Given the description of an element on the screen output the (x, y) to click on. 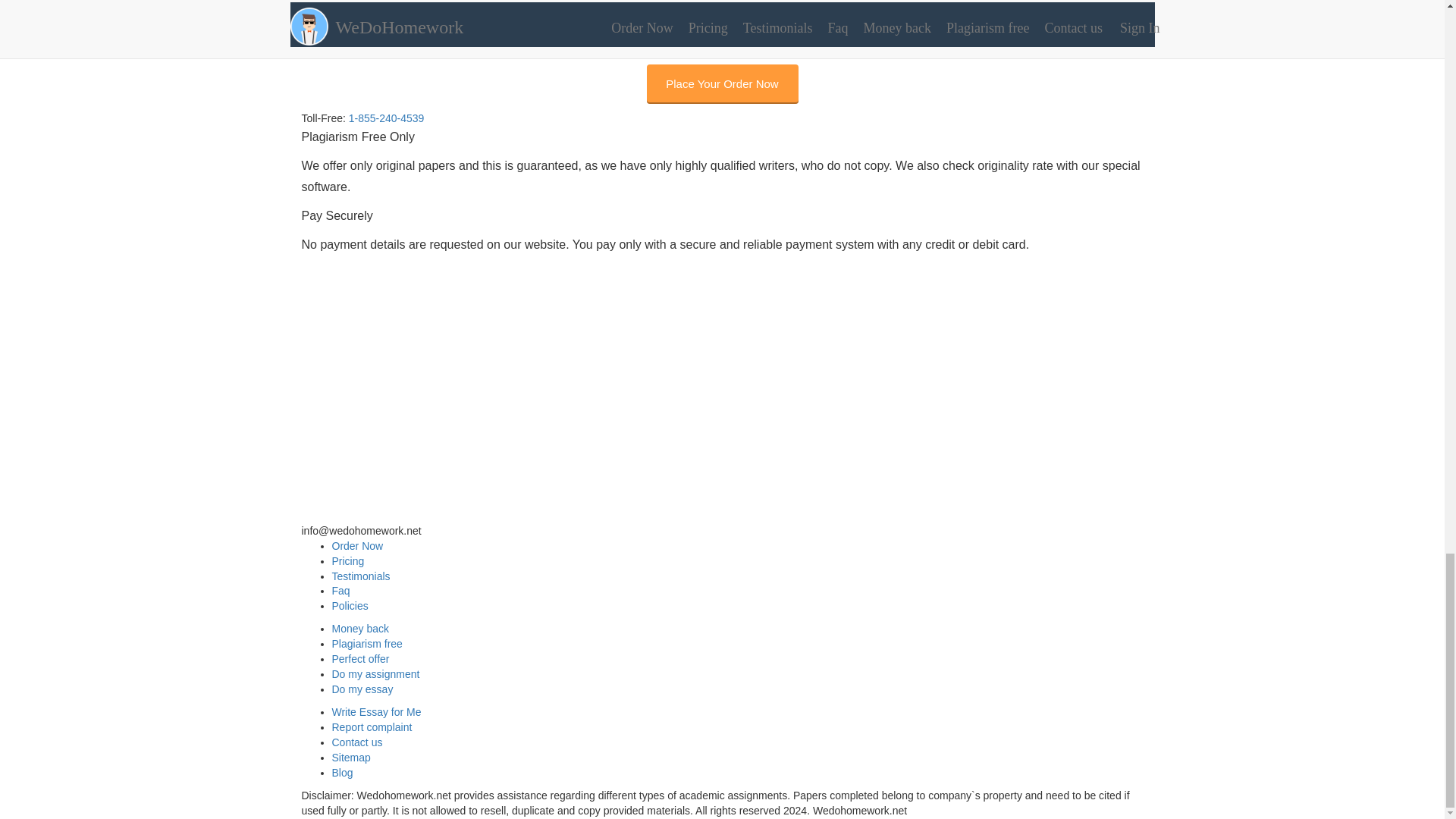
Send (323, 40)
1-855-240-4539 (339, 515)
Place Your Order Now (721, 83)
Place Your Order Now (721, 83)
1-855-240-4539 (387, 118)
